Given the description of an element on the screen output the (x, y) to click on. 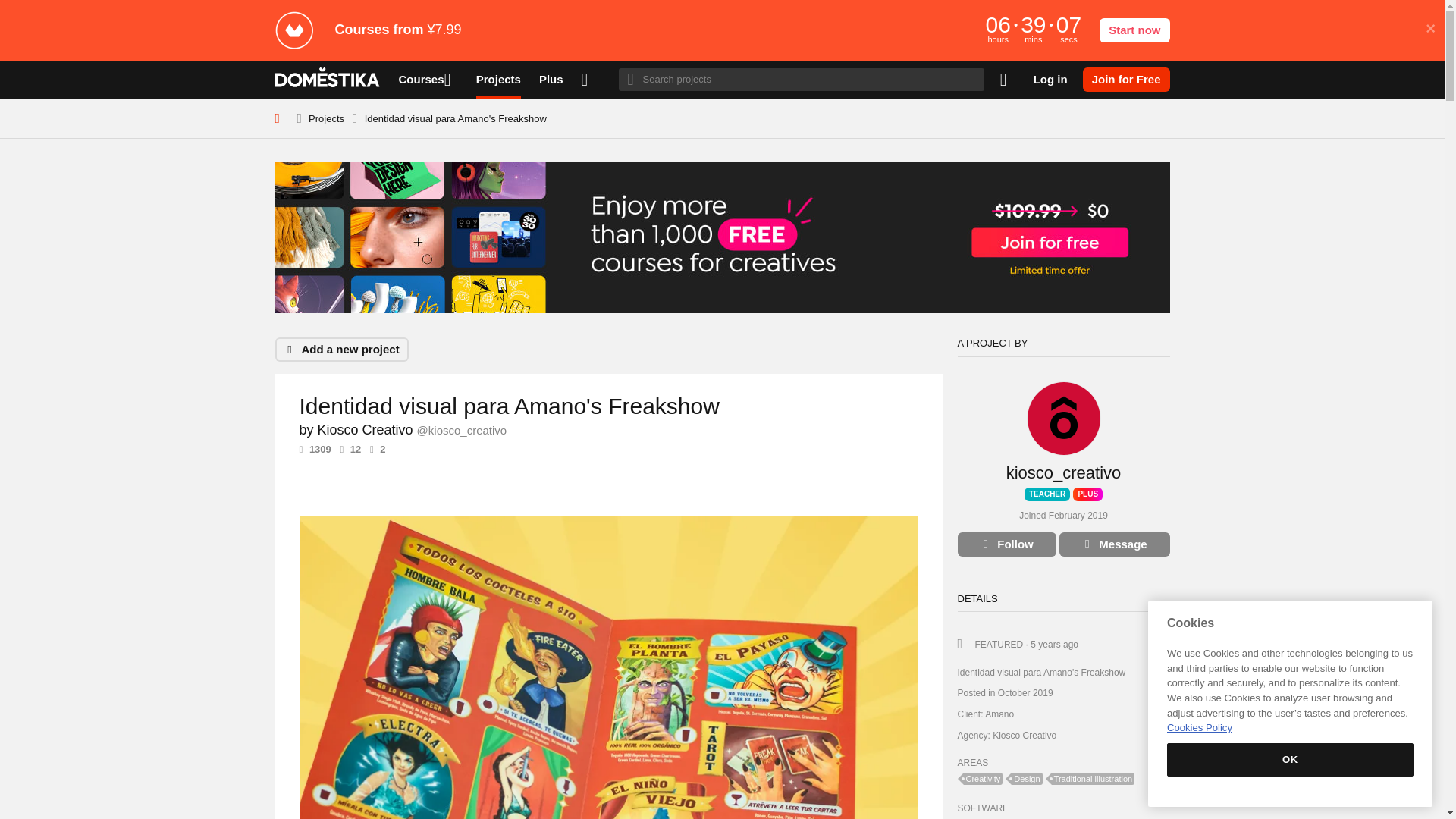
Join for Free (1126, 79)
Log in (1050, 79)
Projects (498, 79)
DOMESTIKA (327, 79)
Projects (325, 118)
Courses (428, 79)
Add a new project (341, 349)
